Given the description of an element on the screen output the (x, y) to click on. 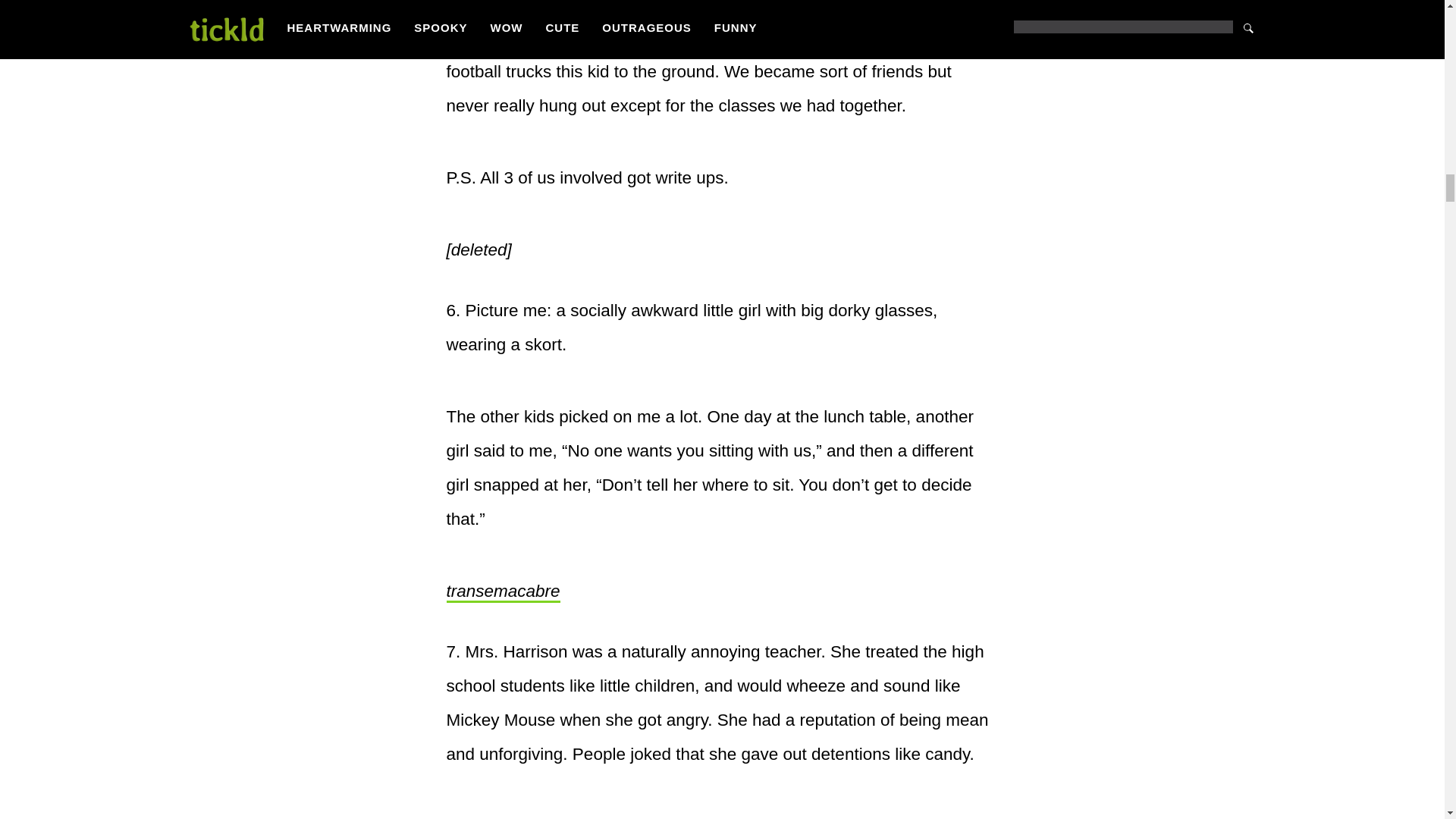
transemacabre (502, 591)
